Given the description of an element on the screen output the (x, y) to click on. 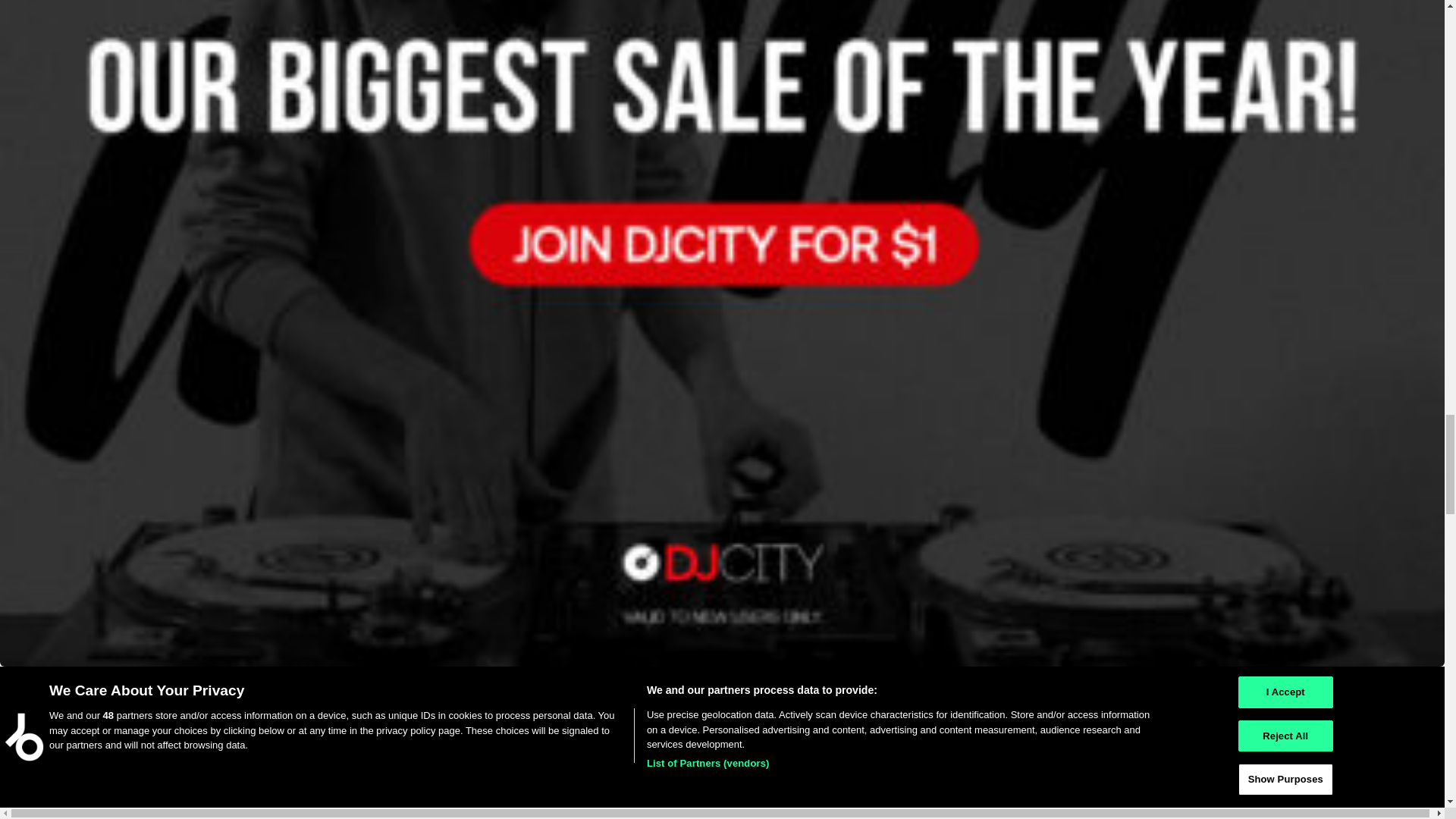
Lukasz Bielawski (40, 684)
